Given the description of an element on the screen output the (x, y) to click on. 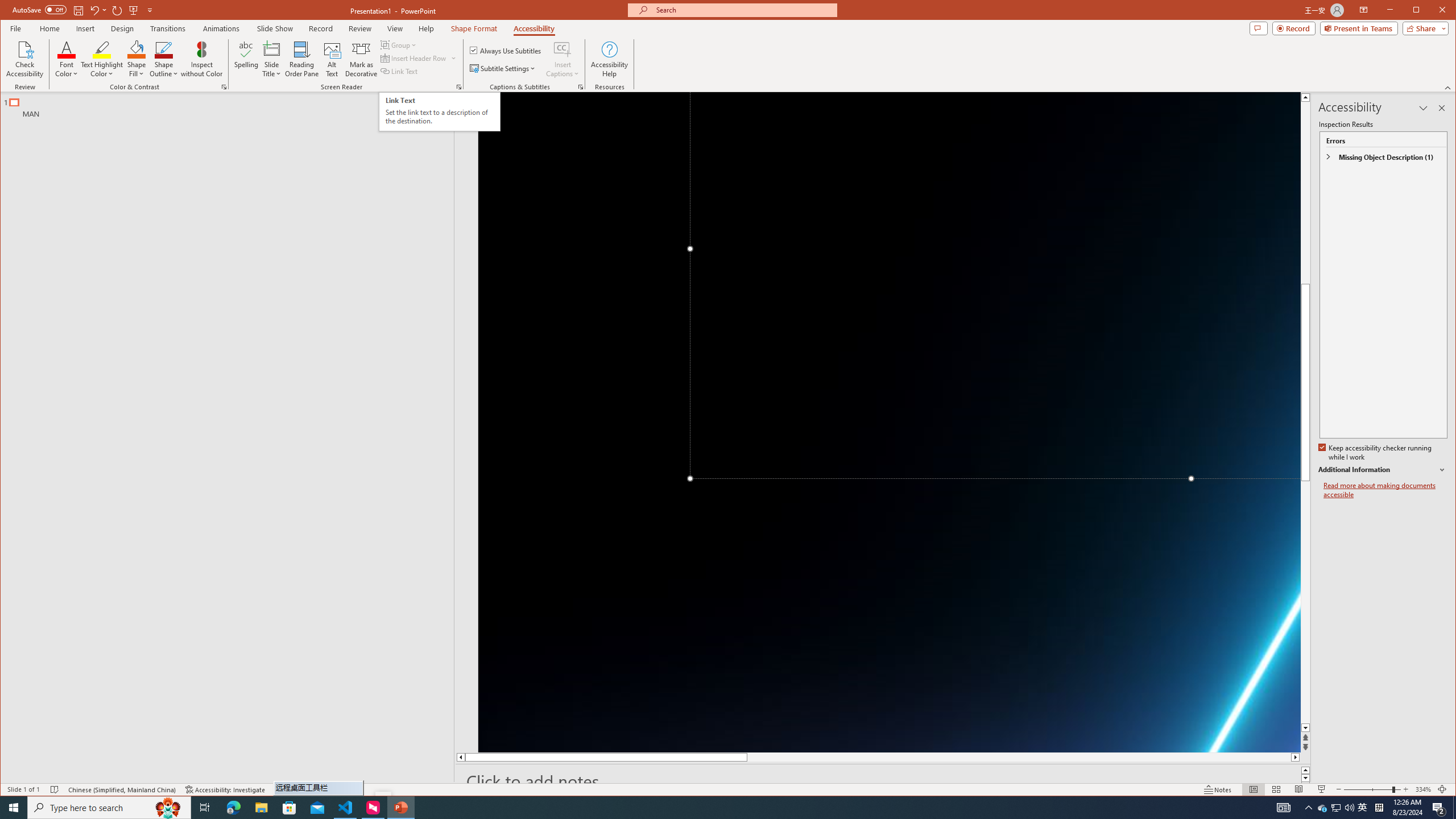
Inspect without Color (201, 59)
Insert Header Row (413, 57)
Insert Header Row (418, 57)
